Given the description of an element on the screen output the (x, y) to click on. 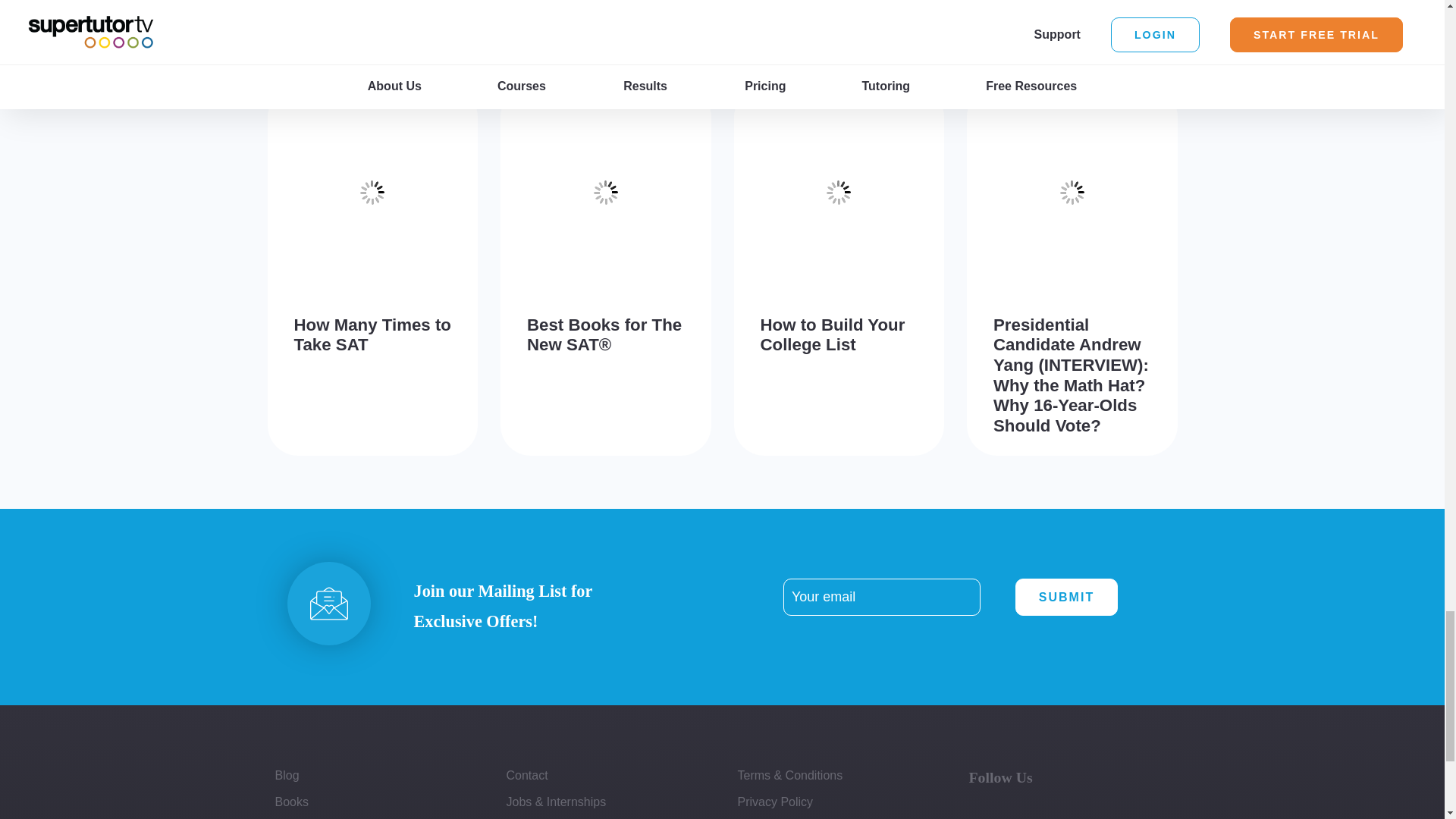
How to Build Your College List (832, 334)
How Many Times to Take SAT (372, 334)
